Given the description of an element on the screen output the (x, y) to click on. 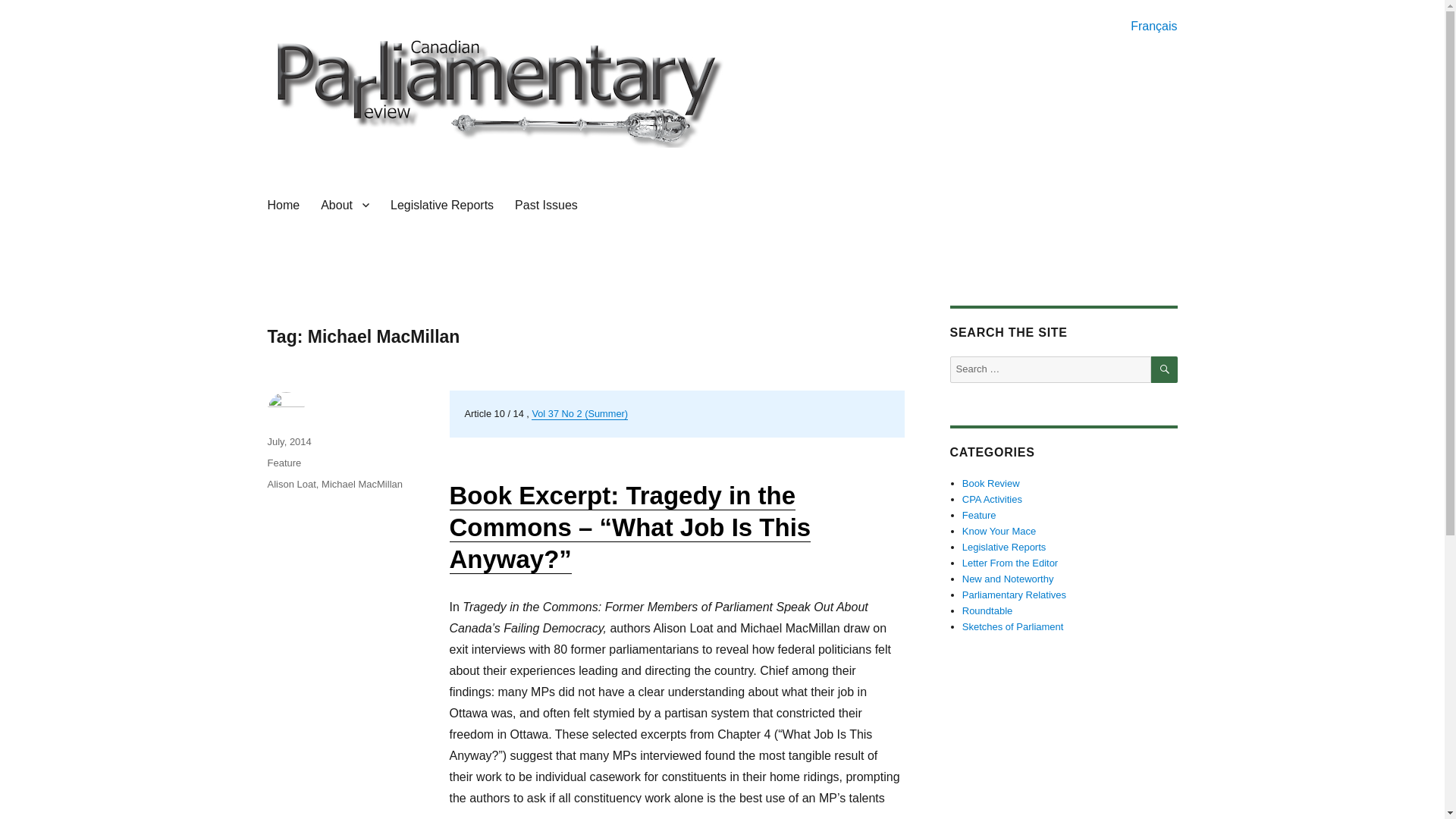
Michael MacMillan (362, 483)
SEARCH (1164, 369)
Parliamentary Relatives (1013, 594)
Legislative Reports (1004, 546)
CPA Activities (992, 499)
Book Review (991, 482)
Feature (283, 462)
Roundtable (987, 610)
July, 2014 (288, 441)
Past Issues (545, 204)
Home (283, 204)
About (345, 204)
Sketches of Parliament (1013, 626)
Letter From the Editor (1010, 562)
Know Your Mace (999, 531)
